Given the description of an element on the screen output the (x, y) to click on. 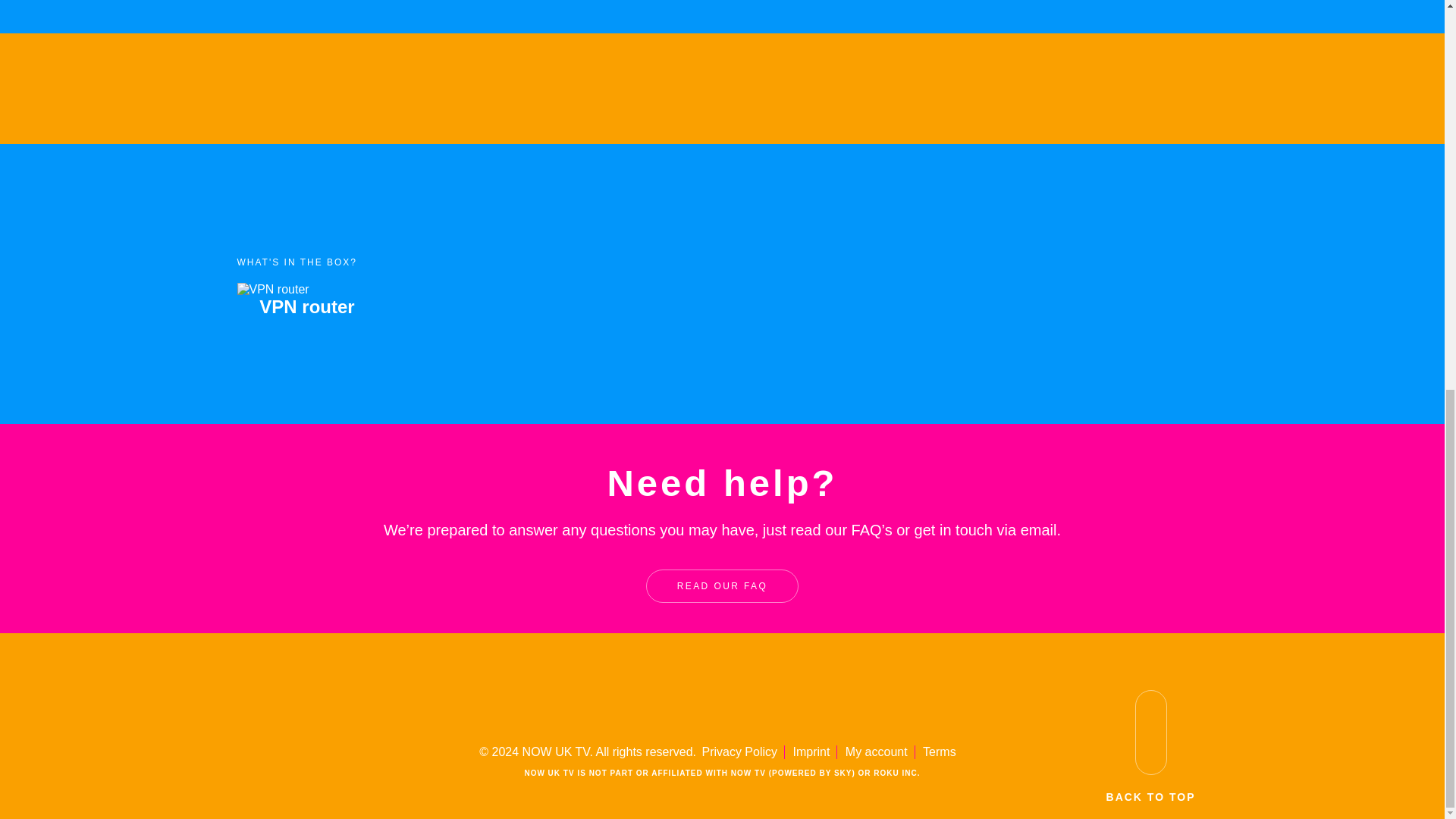
Imprint (810, 751)
Privacy Policy (739, 751)
My account (876, 751)
READ OUR FAQ (721, 585)
